Given the description of an element on the screen output the (x, y) to click on. 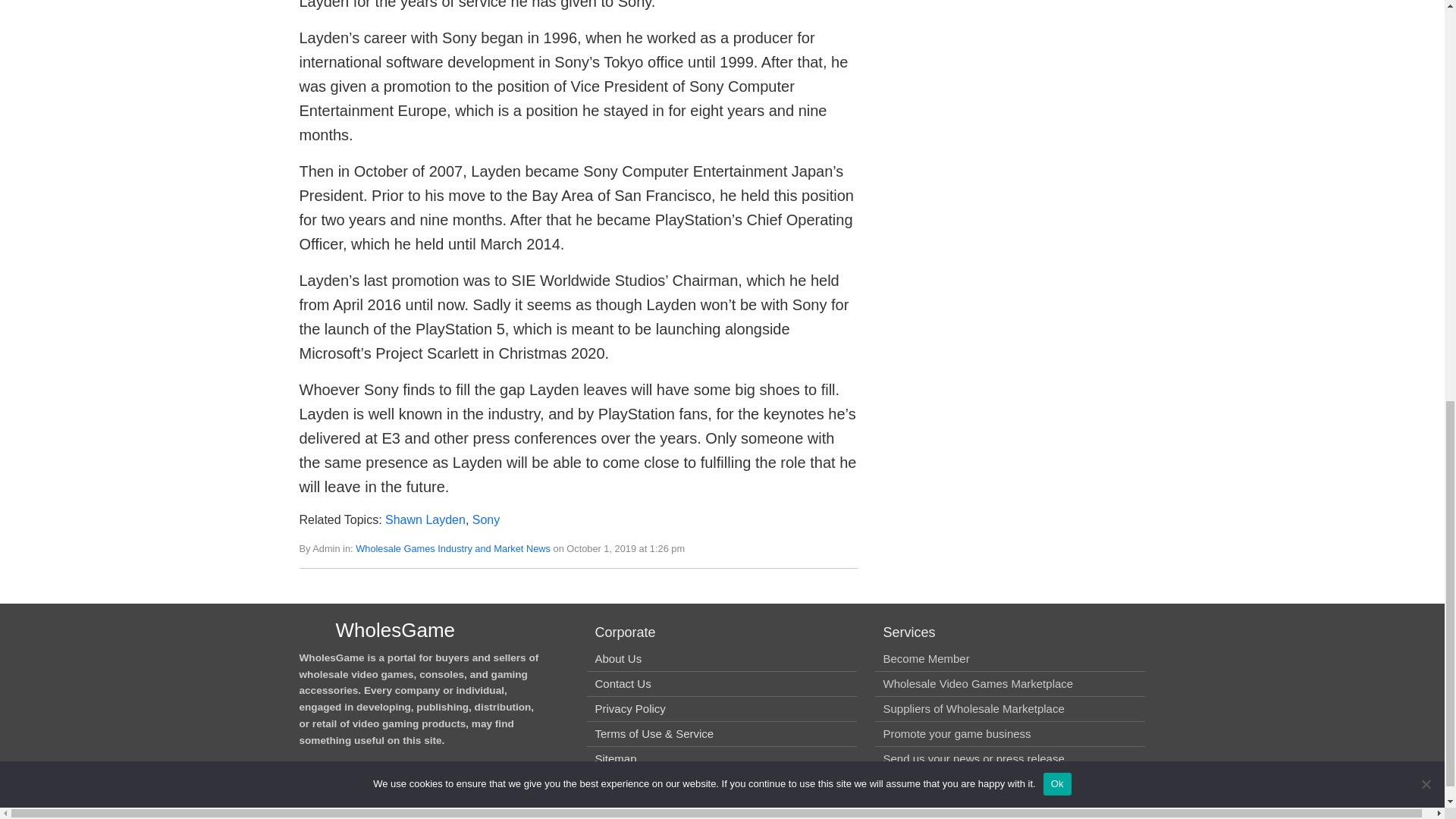
Shawn Layden (425, 519)
About Us (618, 658)
